Given the description of an element on the screen output the (x, y) to click on. 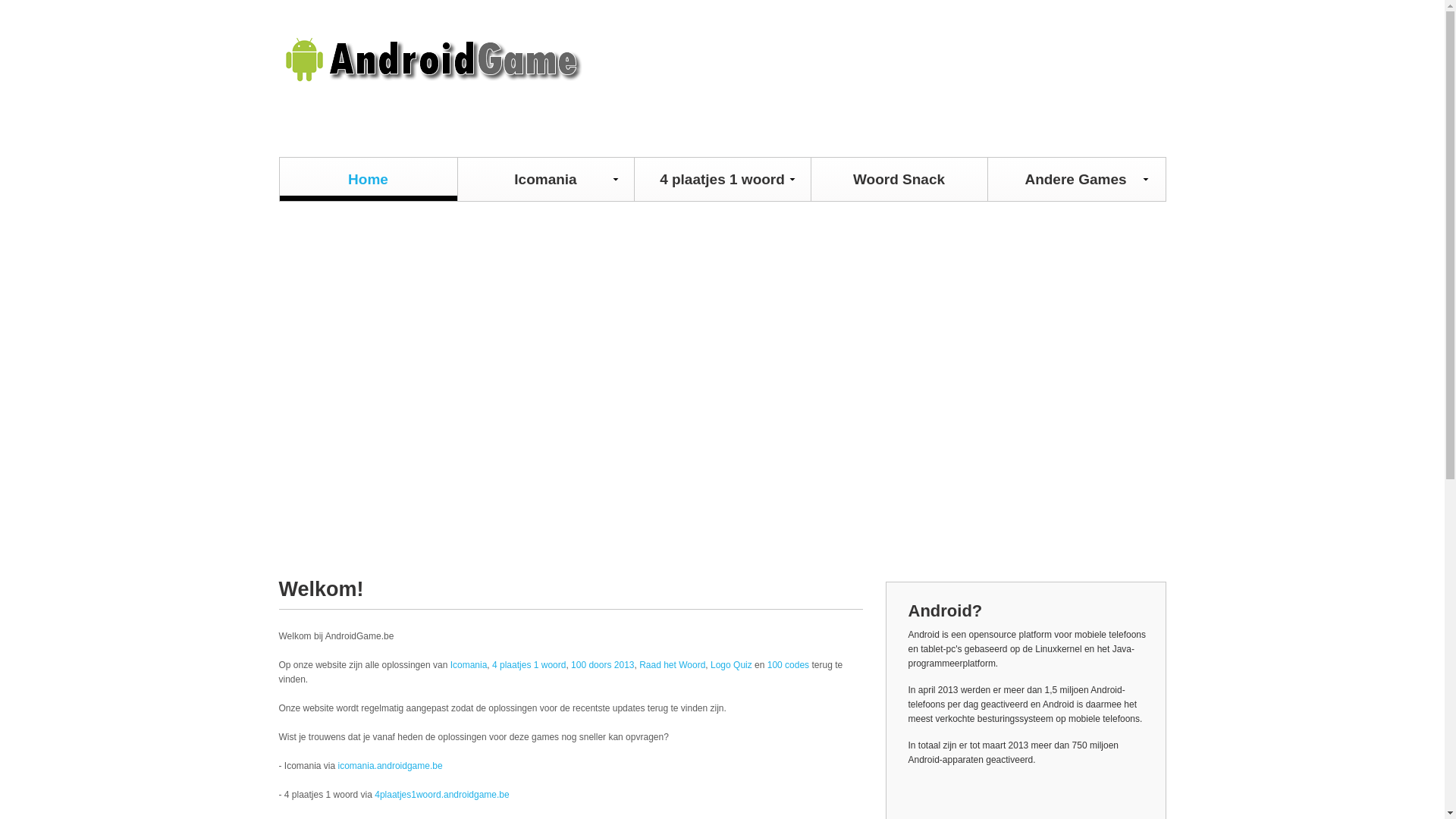
100 doors 2013 Element type: text (602, 664)
4 plaatjes 1 woord Element type: text (721, 178)
Home Element type: text (367, 178)
Andere Games Element type: text (1075, 178)
4plaatjes1woord.androidgame.be Element type: text (441, 794)
4 plaatjes 1 woord Element type: text (528, 664)
Icomania Element type: text (545, 178)
Advertisement Element type: hover (722, 379)
Advertisement Element type: hover (1090, 84)
Raad het Woord Element type: text (672, 664)
100 codes Element type: text (788, 664)
Logo Quiz Element type: text (731, 664)
Icomania Element type: text (468, 664)
icomania.androidgame.be Element type: text (390, 765)
Woord Snack Element type: text (899, 178)
